Given the description of an element on the screen output the (x, y) to click on. 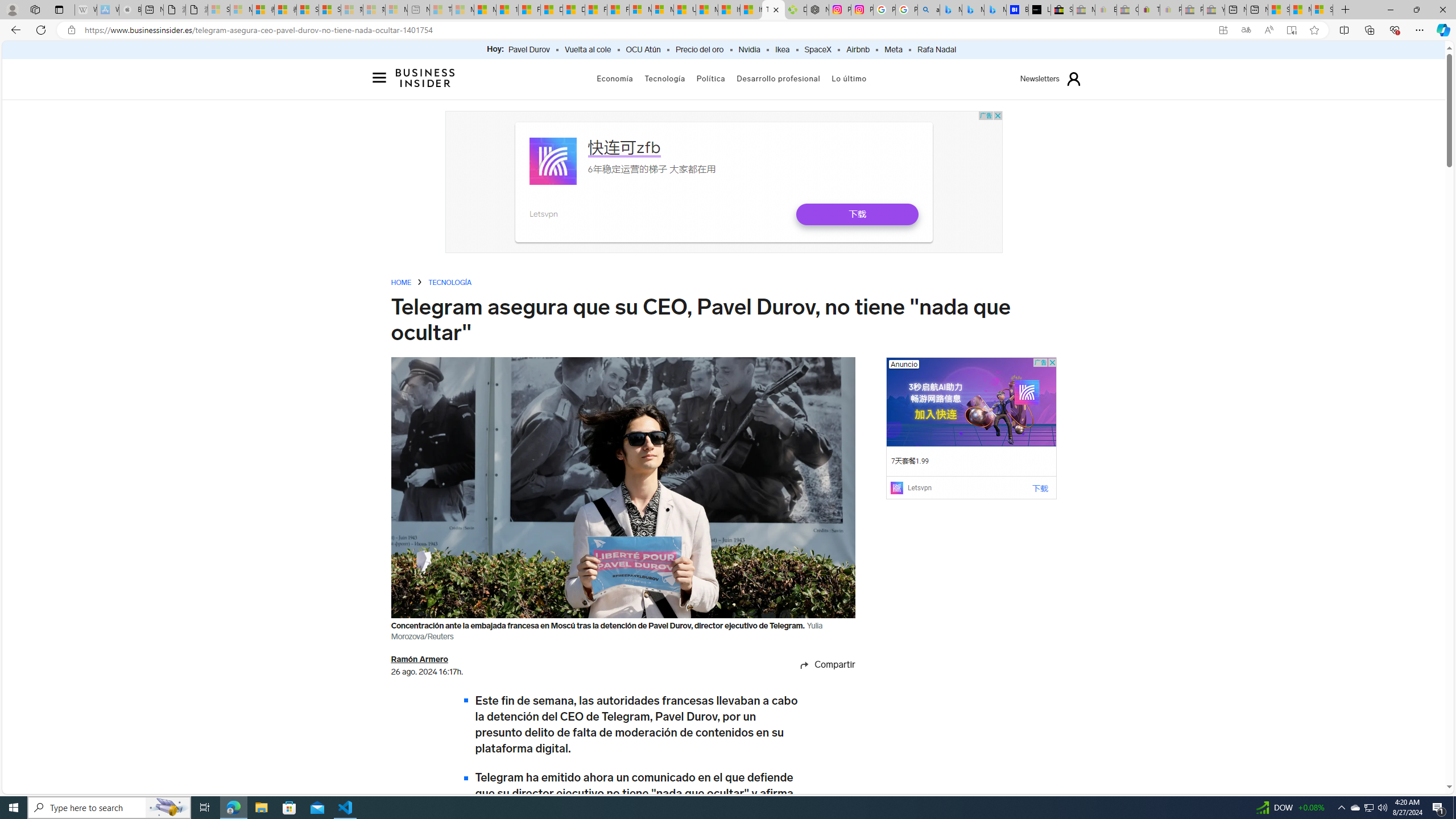
Sign in to your Microsoft account - Sleeping (218, 9)
